Given the description of an element on the screen output the (x, y) to click on. 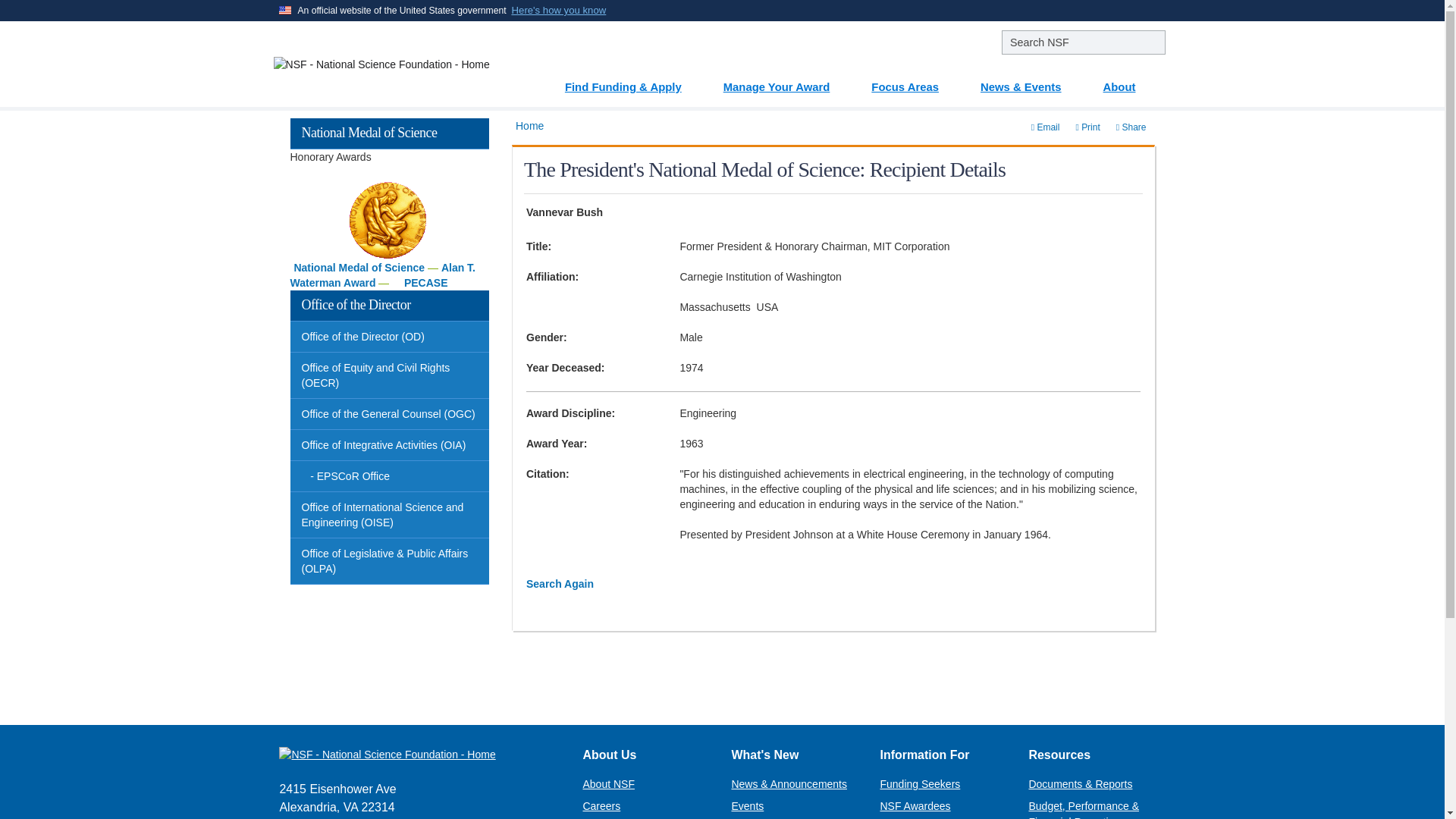
PECASE (426, 282)
Home (529, 125)
Email (1045, 127)
NSF - National Science Foundation - Home (418, 754)
Share (1131, 127)
Alan T. Waterman Award (382, 275)
Print (1087, 127)
About NSF (607, 784)
National Medal of Science (359, 267)
   - EPSCoR Office (389, 476)
Focus Areas (913, 81)
Careers (601, 806)
Search Again (559, 583)
search (1082, 42)
Manage Your Award (785, 81)
